Given the description of an element on the screen output the (x, y) to click on. 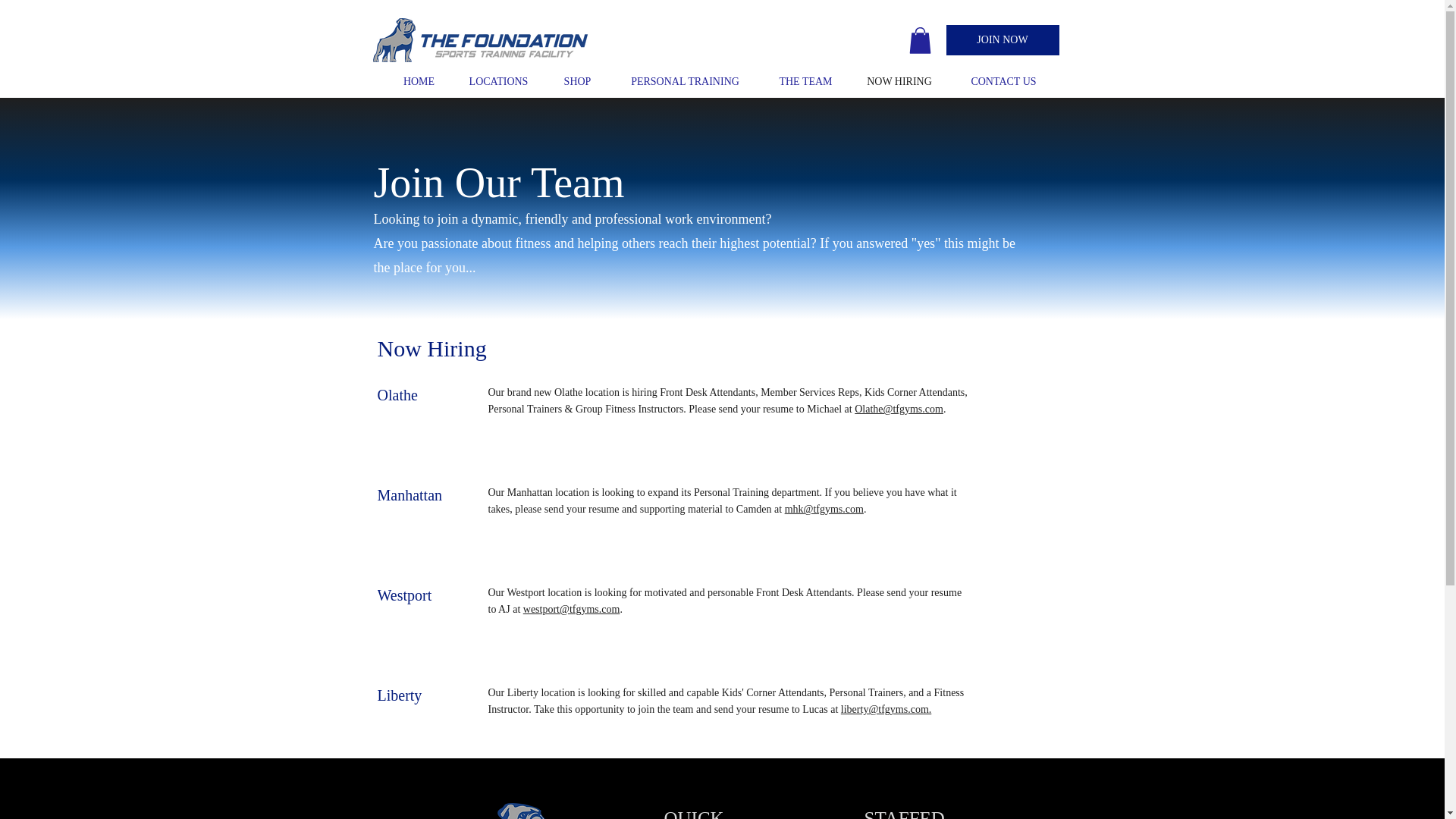
NOW HIRING (899, 81)
CONTACT US (1003, 81)
SHOP (577, 81)
HOME (418, 81)
THE TEAM (805, 81)
LOCATIONS (498, 81)
JOIN NOW (1002, 40)
PERSONAL TRAINING (684, 81)
